Given the description of an element on the screen output the (x, y) to click on. 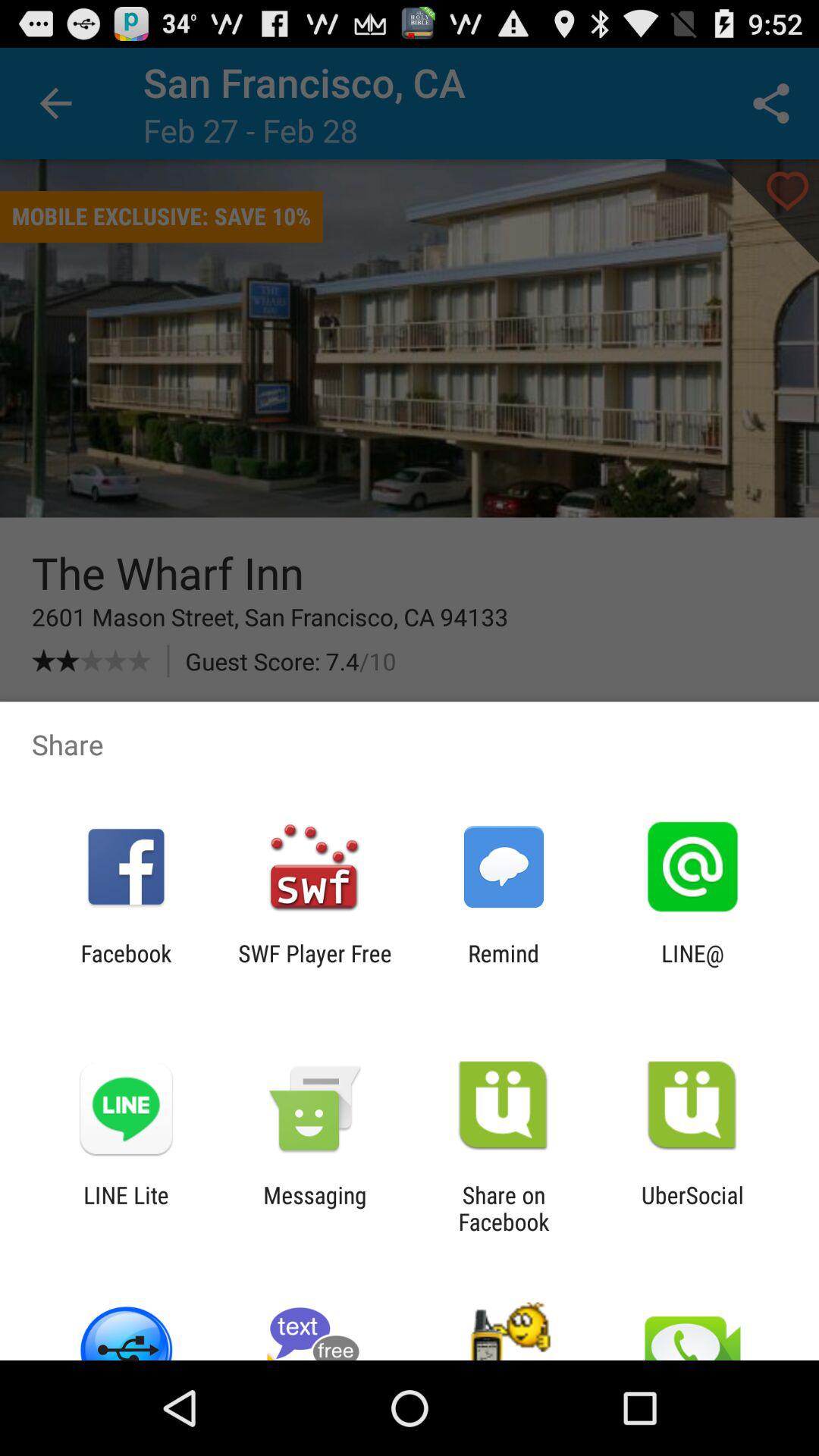
launch icon to the right of share on facebook item (692, 1208)
